Given the description of an element on the screen output the (x, y) to click on. 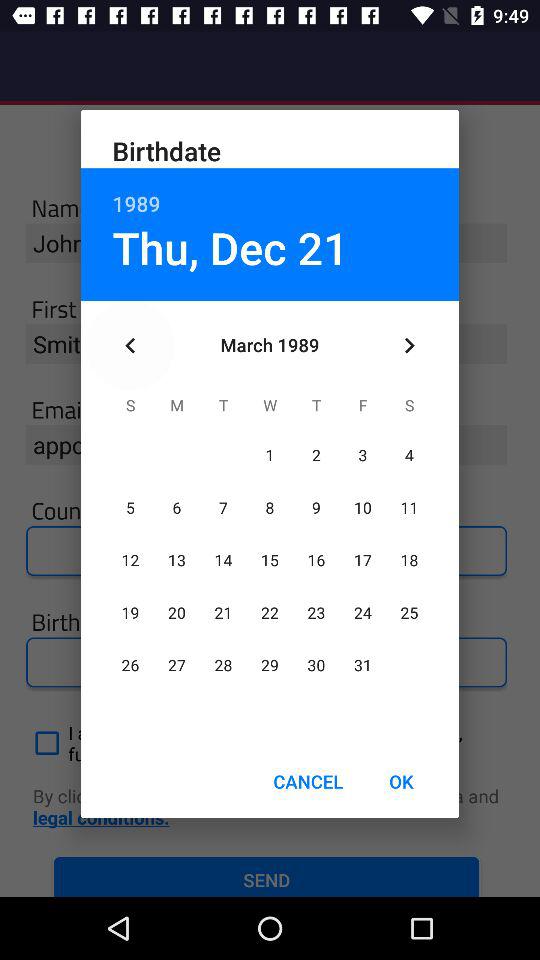
turn off icon below the thu, dec 21 item (130, 345)
